Given the description of an element on the screen output the (x, y) to click on. 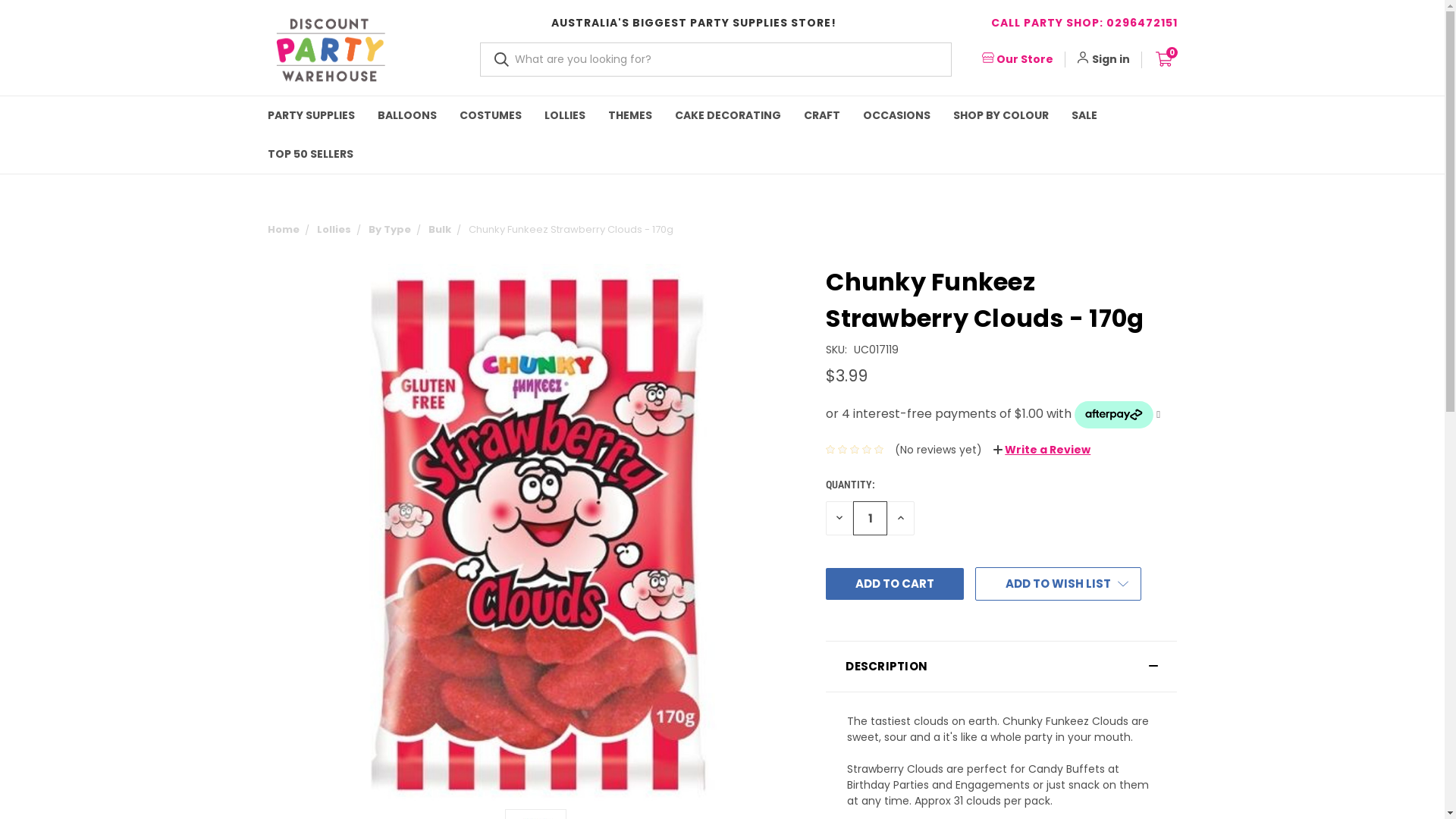
OCCASIONS Element type: text (895, 115)
Our Store Element type: text (1016, 58)
SALE Element type: text (1084, 115)
PARTY SUPPLIES Element type: text (311, 115)
CAKE DECORATING Element type: text (726, 115)
Write a Review Element type: text (1041, 449)
Sign in Element type: text (1110, 59)
CALL PARTY SHOP: 0296472151 Element type: text (1083, 22)
0 Element type: text (1164, 54)
DECREASE QUANTITY: Element type: text (839, 518)
Lollies Element type: text (333, 229)
Discount Party Warehouse Element type: hover (329, 49)
Add to Cart Element type: text (894, 583)
ADD TO WISH LIST Element type: text (1058, 583)
BALLOONS Element type: text (406, 115)
SHOP BY COLOUR Element type: text (1000, 115)
THEMES Element type: text (629, 115)
COSTUMES Element type: text (489, 115)
INCREASE QUANTITY: Element type: text (900, 518)
LOLLIES Element type: text (564, 115)
TOP 50 SELLERS Element type: text (310, 153)
Chunky Funkeez Strawberry Clouds - 170g Element type: hover (535, 532)
Home Element type: text (282, 229)
Bulk Element type: text (438, 229)
CRAFT Element type: text (820, 115)
By Type Element type: text (389, 229)
